Given the description of an element on the screen output the (x, y) to click on. 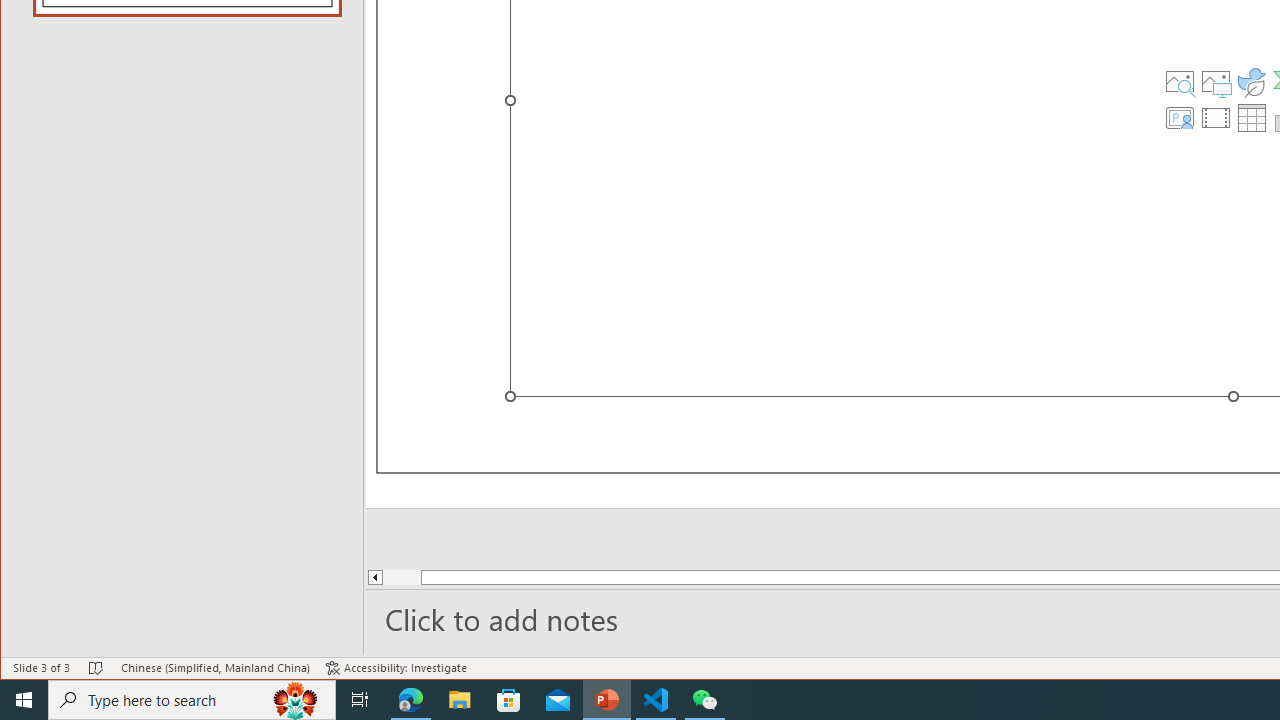
WeChat - 1 running window (704, 699)
Insert Video (1215, 117)
Pictures (1215, 81)
